Given the description of an element on the screen output the (x, y) to click on. 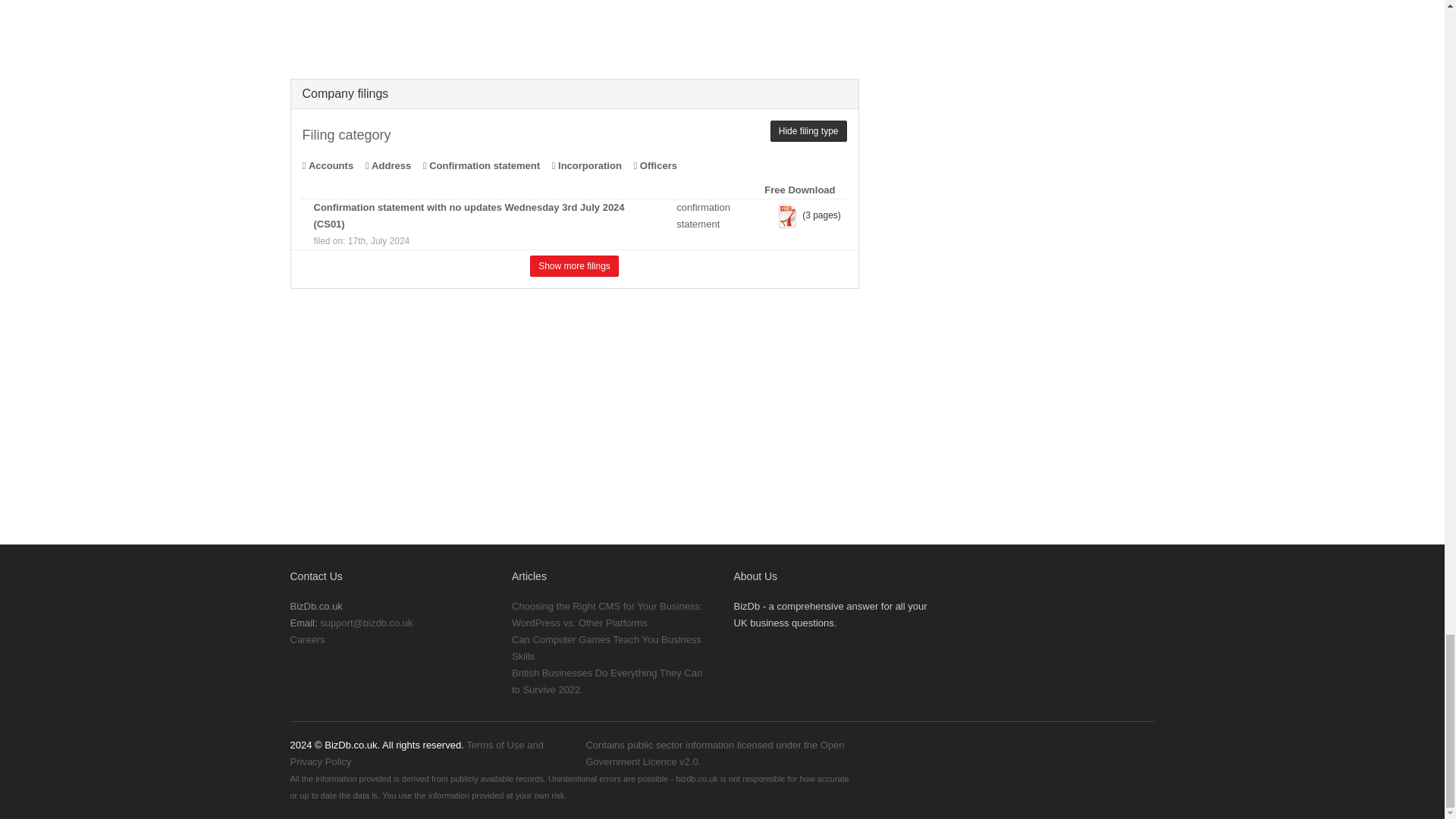
British Businesses Do Everything They Can to Survive 2022 (606, 681)
Show more filings (573, 265)
Articles (529, 576)
Can Computer Games Teach You Business Skills (606, 647)
Careers (306, 639)
